Given the description of an element on the screen output the (x, y) to click on. 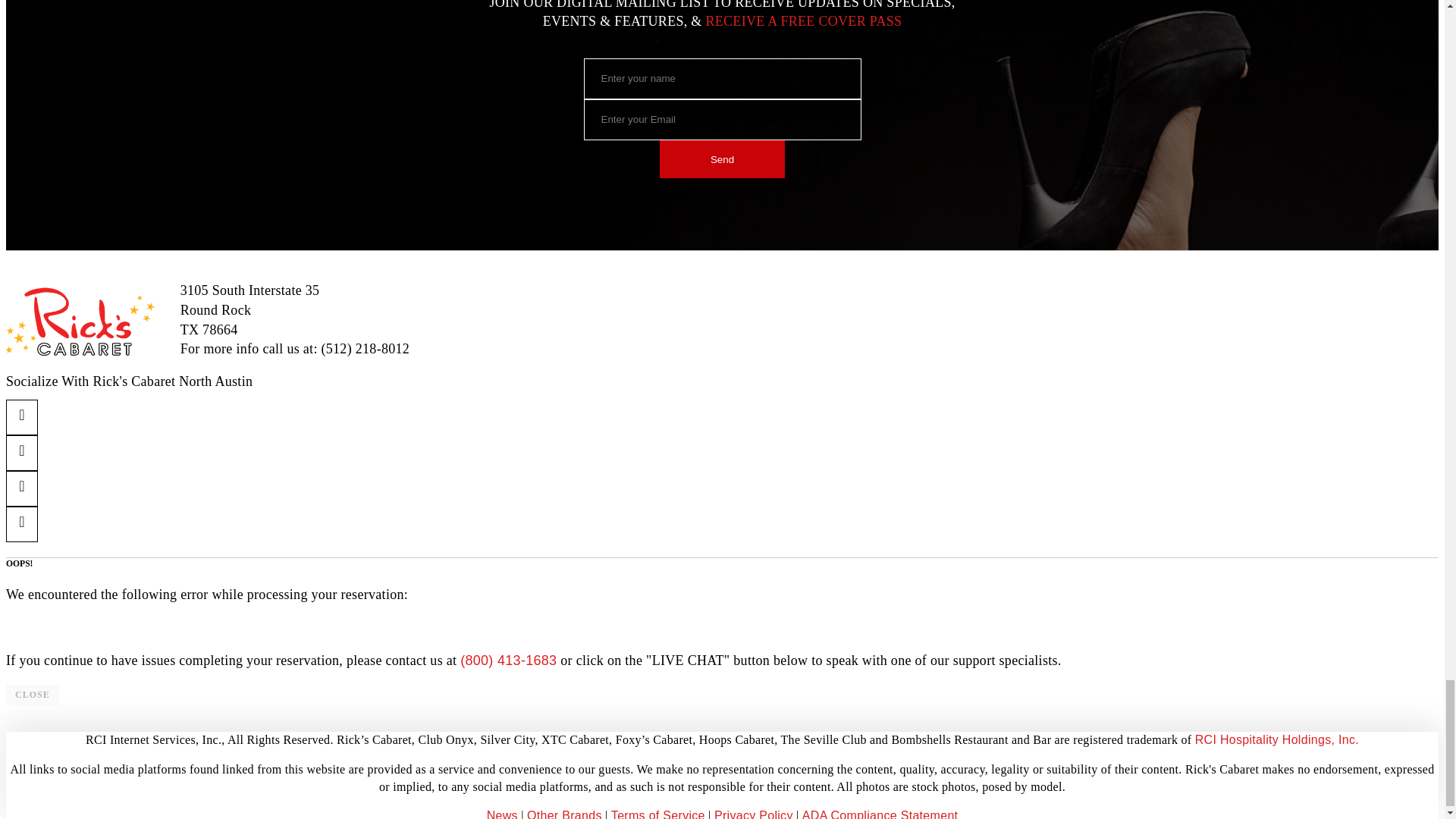
RCI Hospitality Holdings, Inc. (1276, 739)
Send (721, 159)
 RCI Hospitality Holdings, Inc. website (1276, 739)
Send (721, 159)
CLOSE (32, 694)
